Given the description of an element on the screen output the (x, y) to click on. 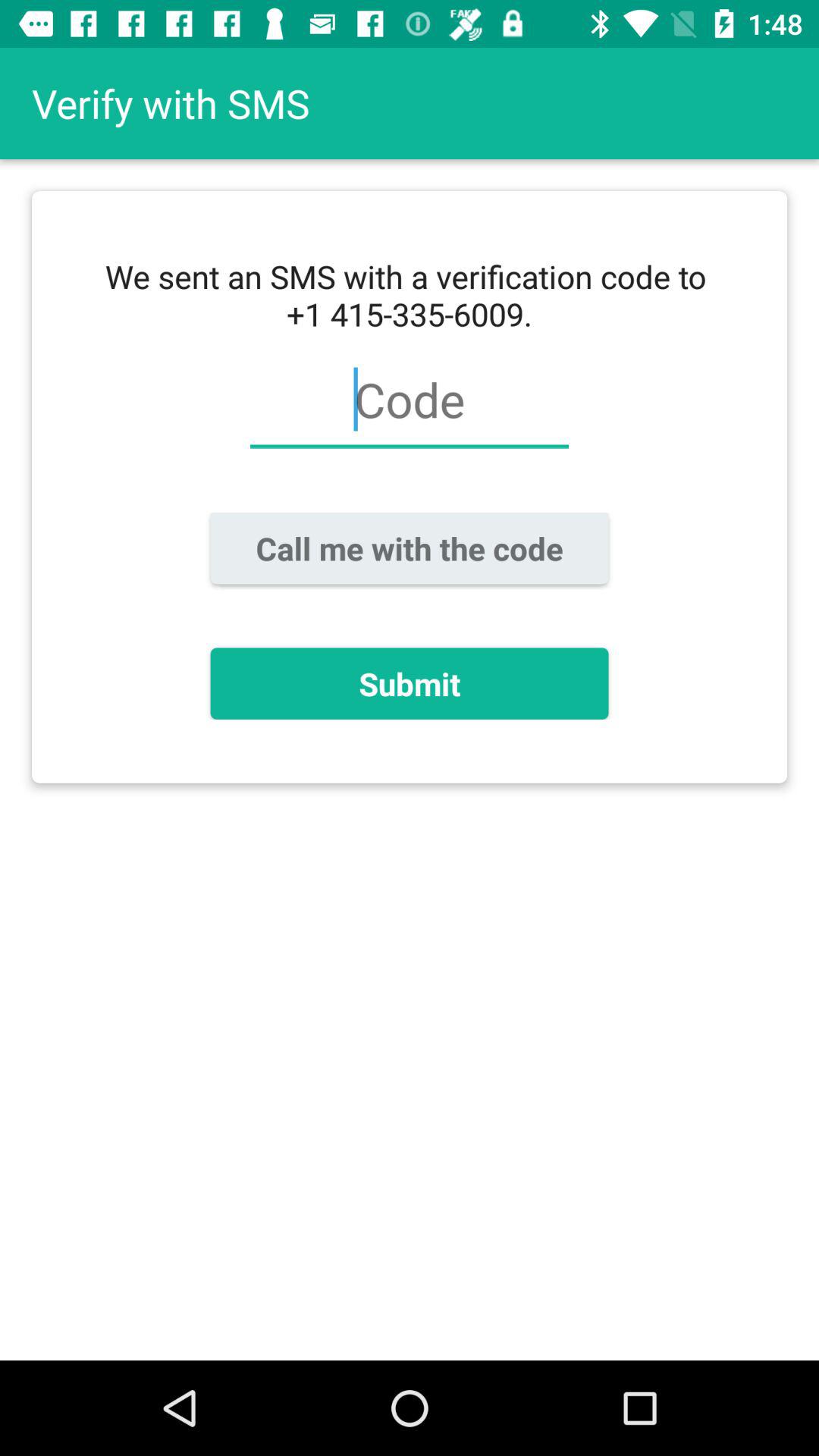
choose call me with icon (409, 548)
